Given the description of an element on the screen output the (x, y) to click on. 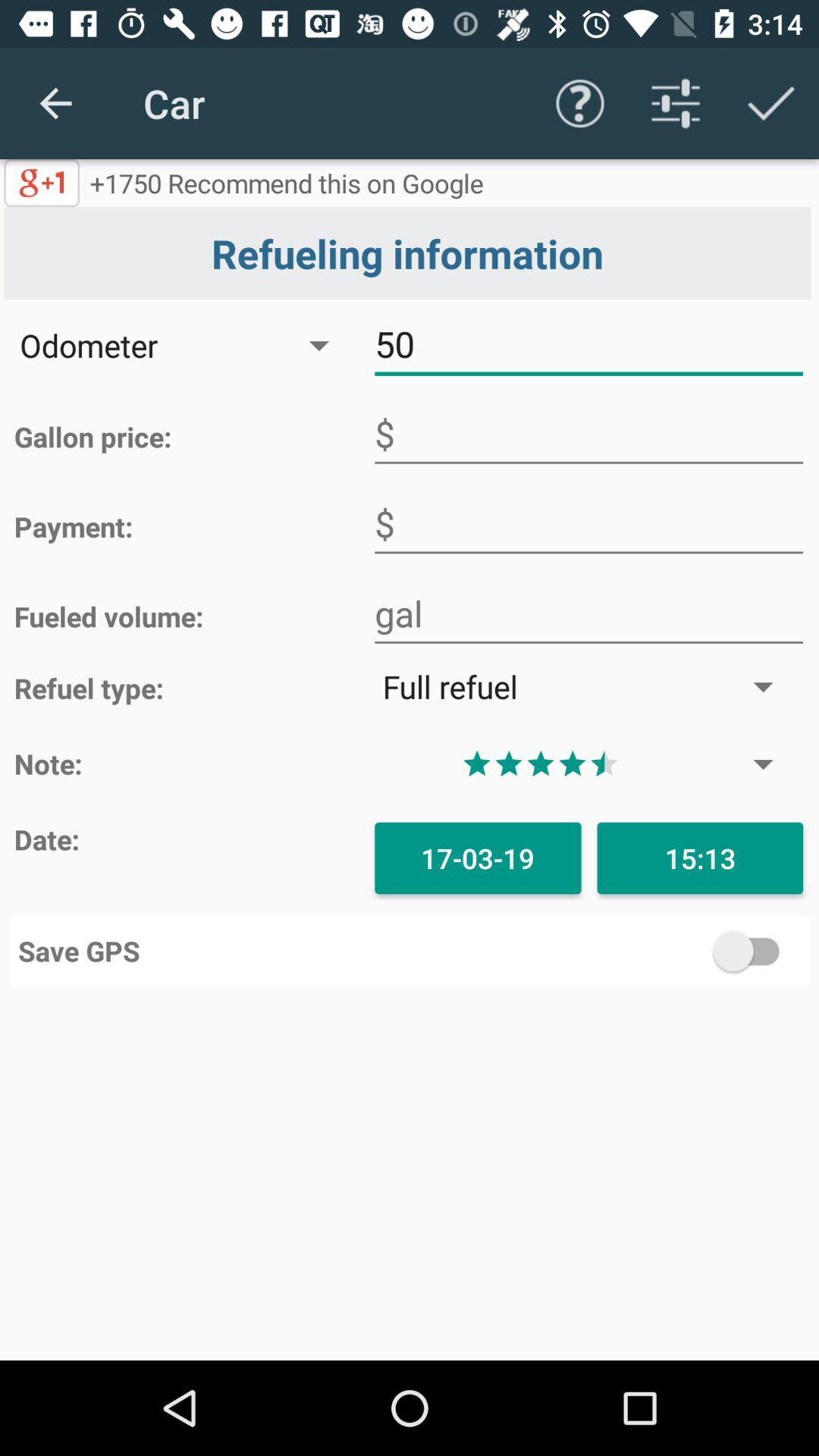
select the app to the right of 1750 recommend this (579, 103)
